Given the description of an element on the screen output the (x, y) to click on. 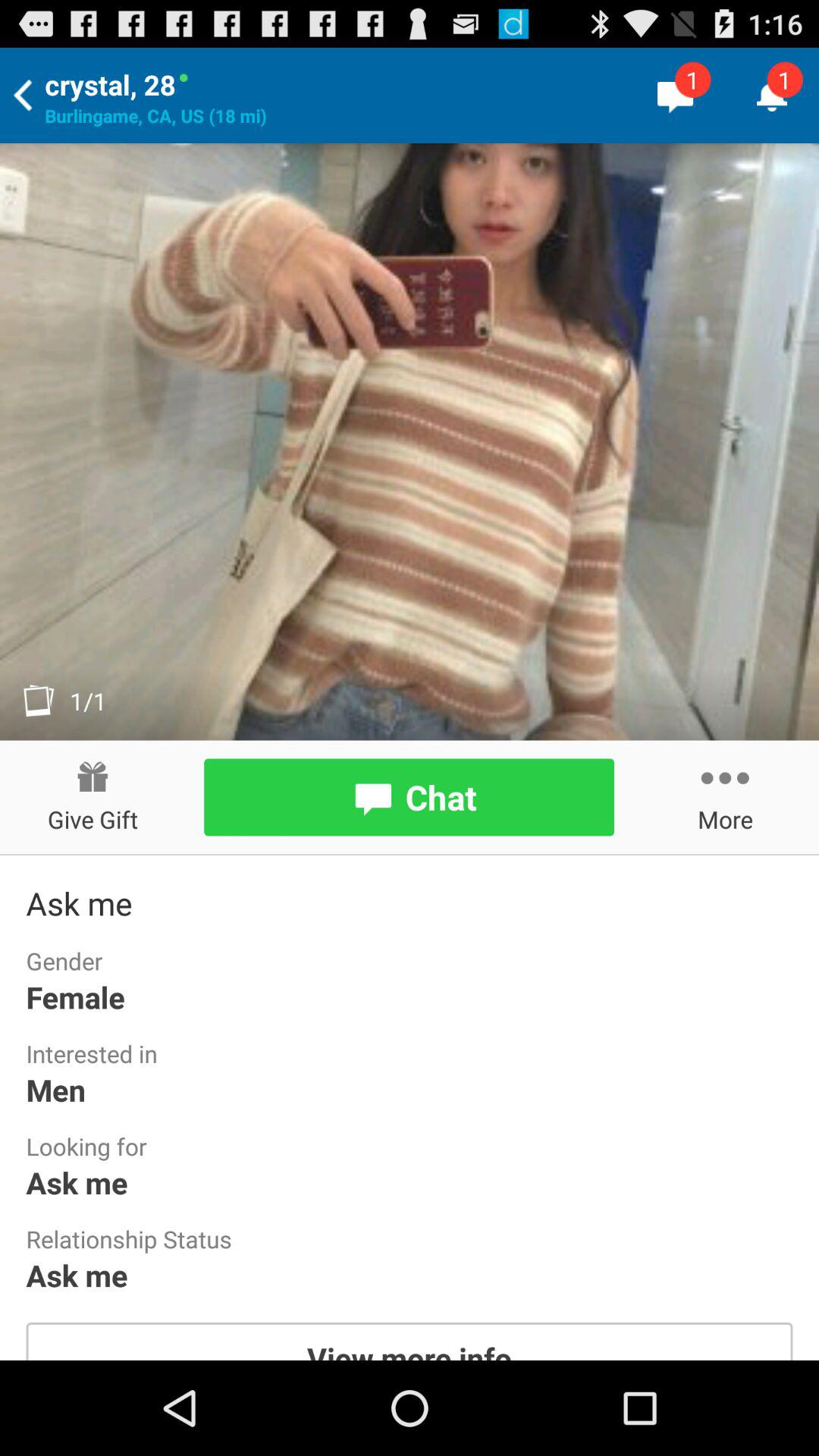
scroll until view more info icon (409, 1341)
